Given the description of an element on the screen output the (x, y) to click on. 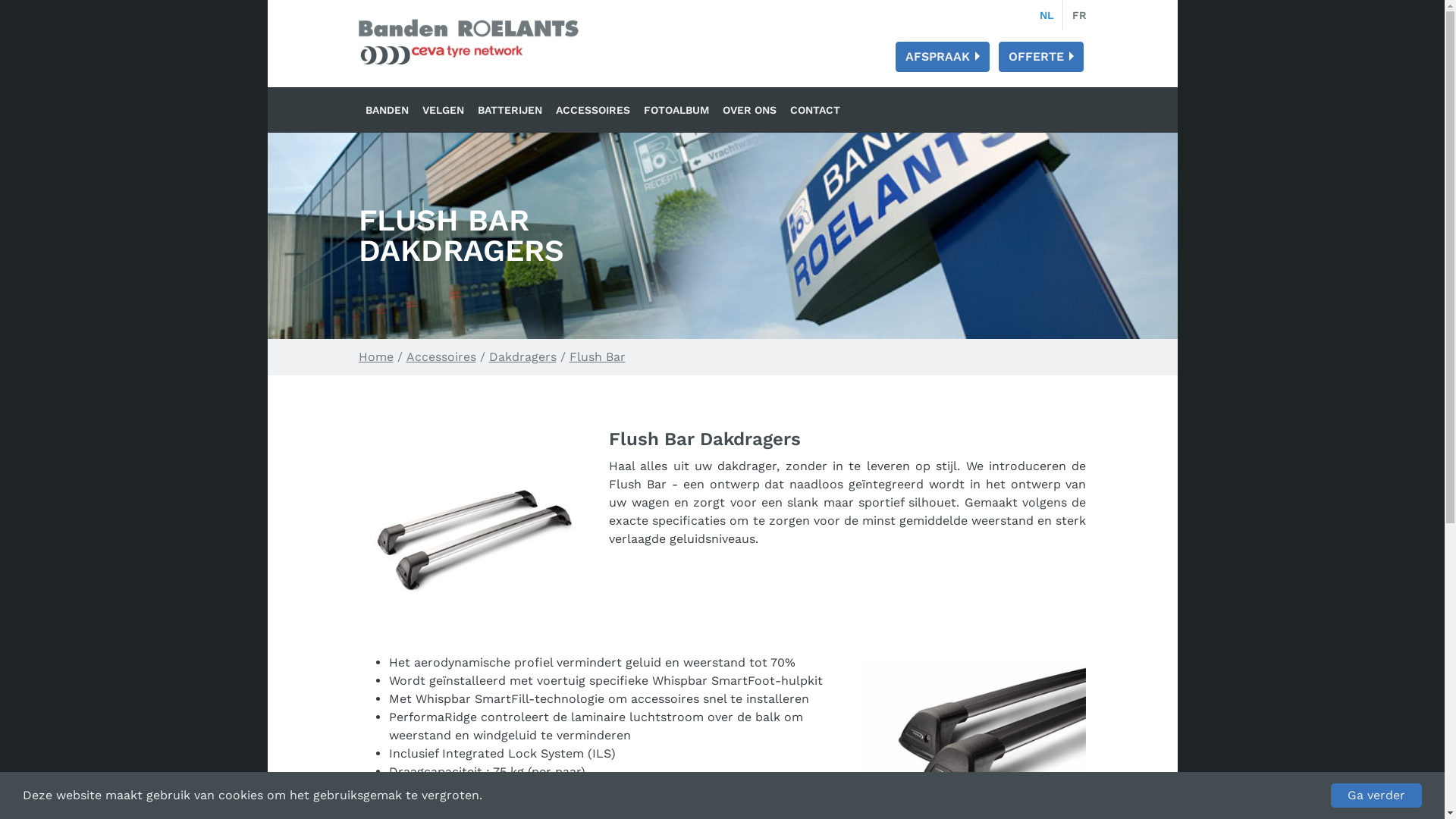
NL Element type: text (1045, 15)
BATTERIJEN Element type: text (509, 109)
FR Element type: text (1079, 15)
OVER ONS Element type: text (749, 109)
Home Element type: text (374, 356)
Dakdragers Element type: text (521, 356)
BANDEN Element type: text (385, 109)
Ga verder Element type: text (1375, 795)
CONTACT Element type: text (814, 109)
Banden Roelants: Banden, velgen en batterijen Element type: text (467, 41)
VELGEN Element type: text (442, 109)
OFFERTE Element type: text (1039, 56)
AFSPRAAK Element type: text (941, 56)
FOTOALBUM Element type: text (676, 109)
Flush Bar Element type: text (596, 356)
Accessoires Element type: text (441, 356)
ACCESSOIRES Element type: text (593, 109)
